Given the description of an element on the screen output the (x, y) to click on. 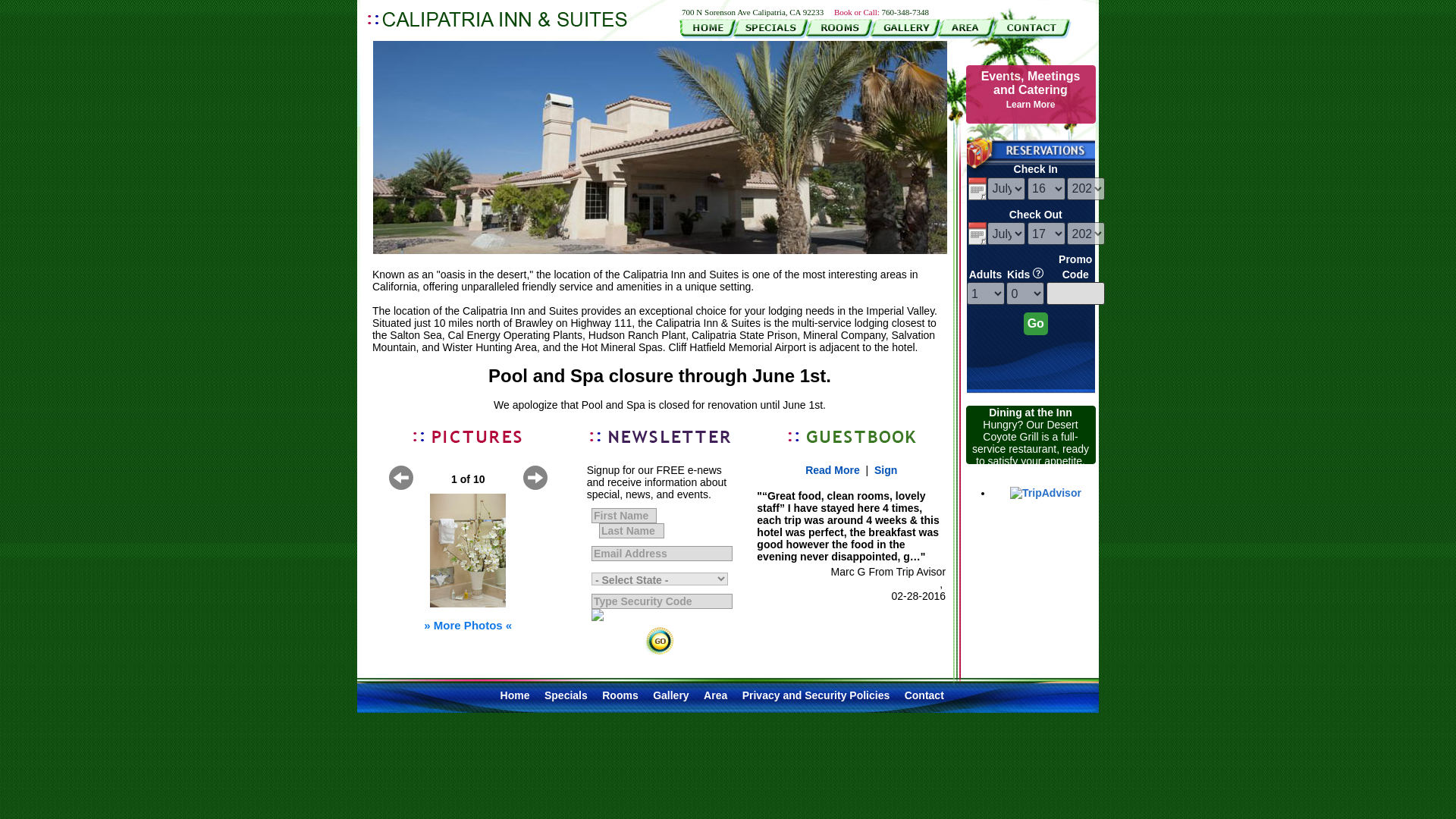
Go (1035, 323)
Read More (832, 469)
Area (714, 695)
Gallery (670, 695)
Contact (923, 695)
Submit (1030, 89)
First Name (659, 641)
Select A State (623, 515)
Rooms (659, 578)
Email Address (619, 695)
Home (661, 553)
Type Security Code (514, 695)
Last Name (661, 601)
Go (630, 530)
